Given the description of an element on the screen output the (x, y) to click on. 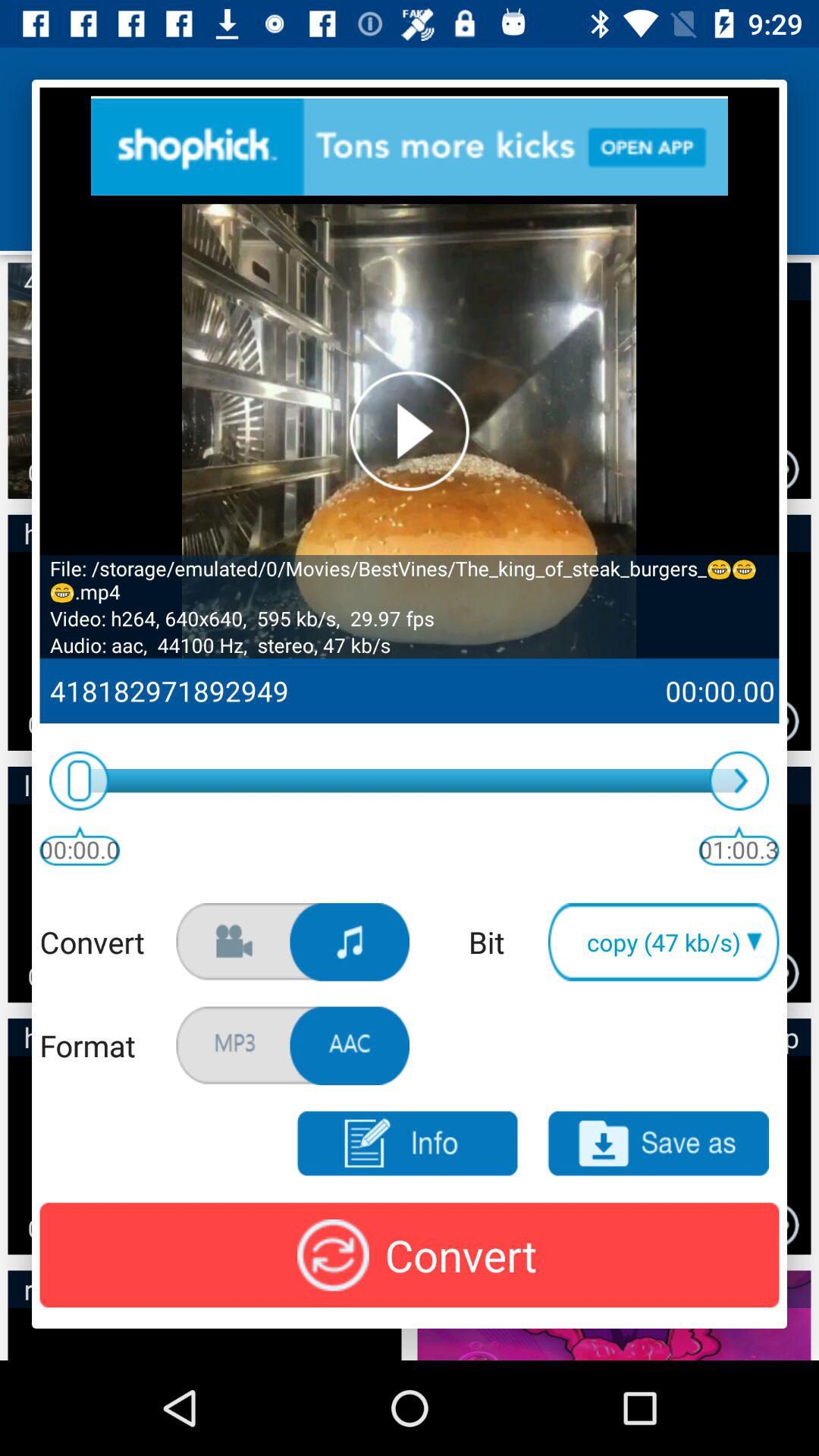
click music option (349, 942)
